Given the description of an element on the screen output the (x, y) to click on. 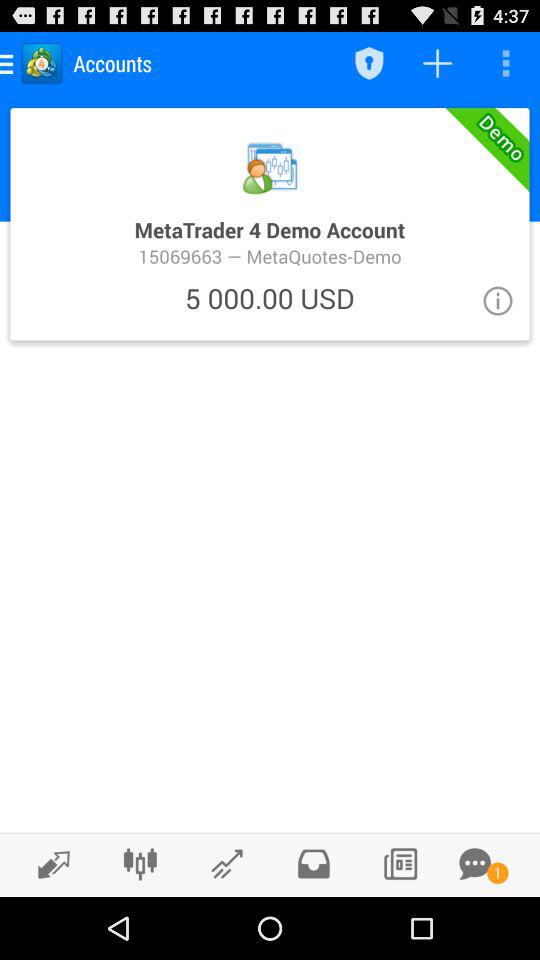
show inforomation (497, 300)
